Given the description of an element on the screen output the (x, y) to click on. 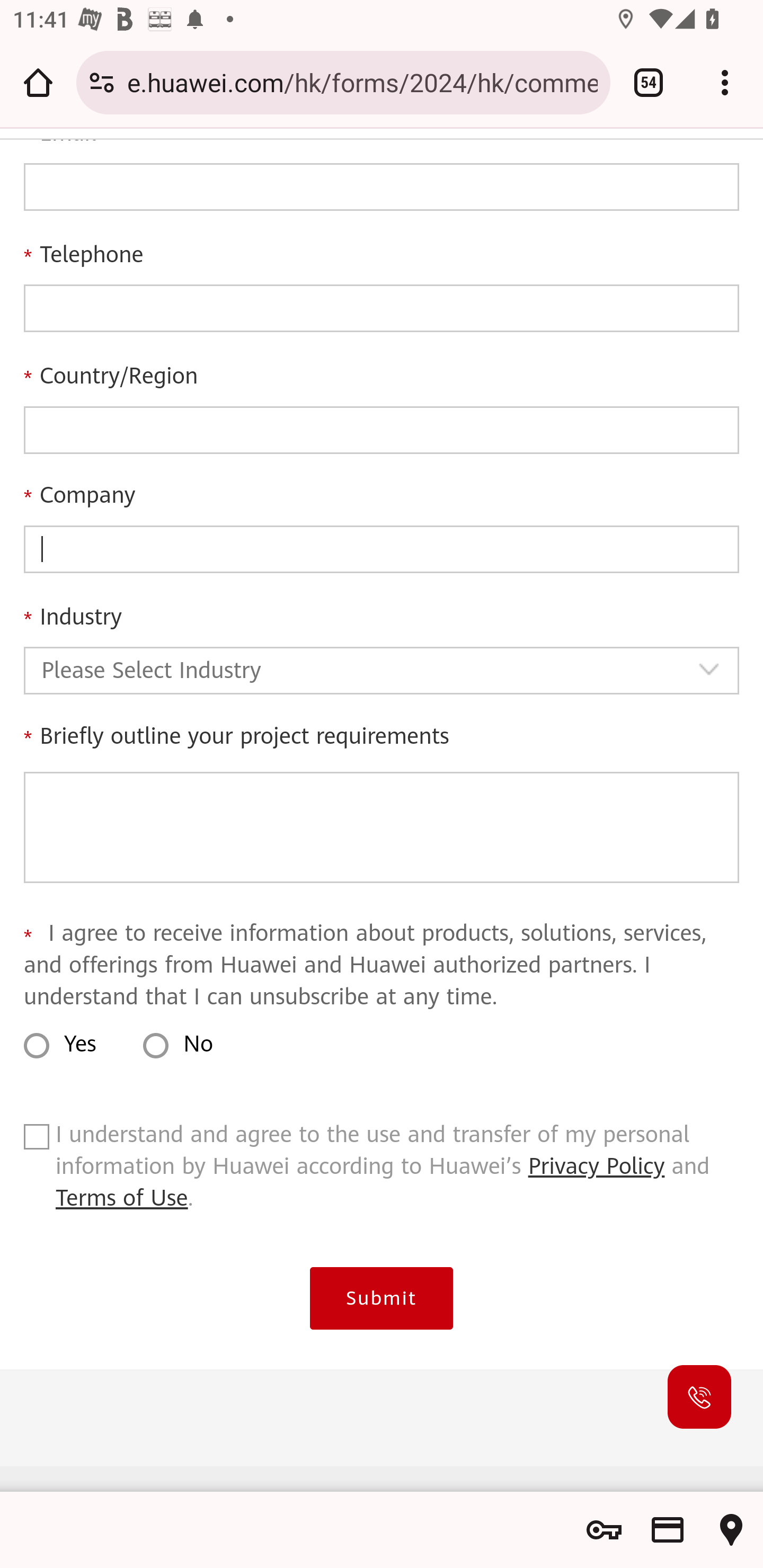
Open the home page (38, 82)
Connection is secure (101, 82)
Switch or close tabs (648, 82)
Customize and control Google Chrome (724, 82)
✓ (36, 1141)
Privacy Policy (596, 1168)
Terms of Use (122, 1199)
Show saved passwords and password options (603, 1530)
Show saved payment methods (667, 1530)
Show saved addresses (731, 1530)
